Given the description of an element on the screen output the (x, y) to click on. 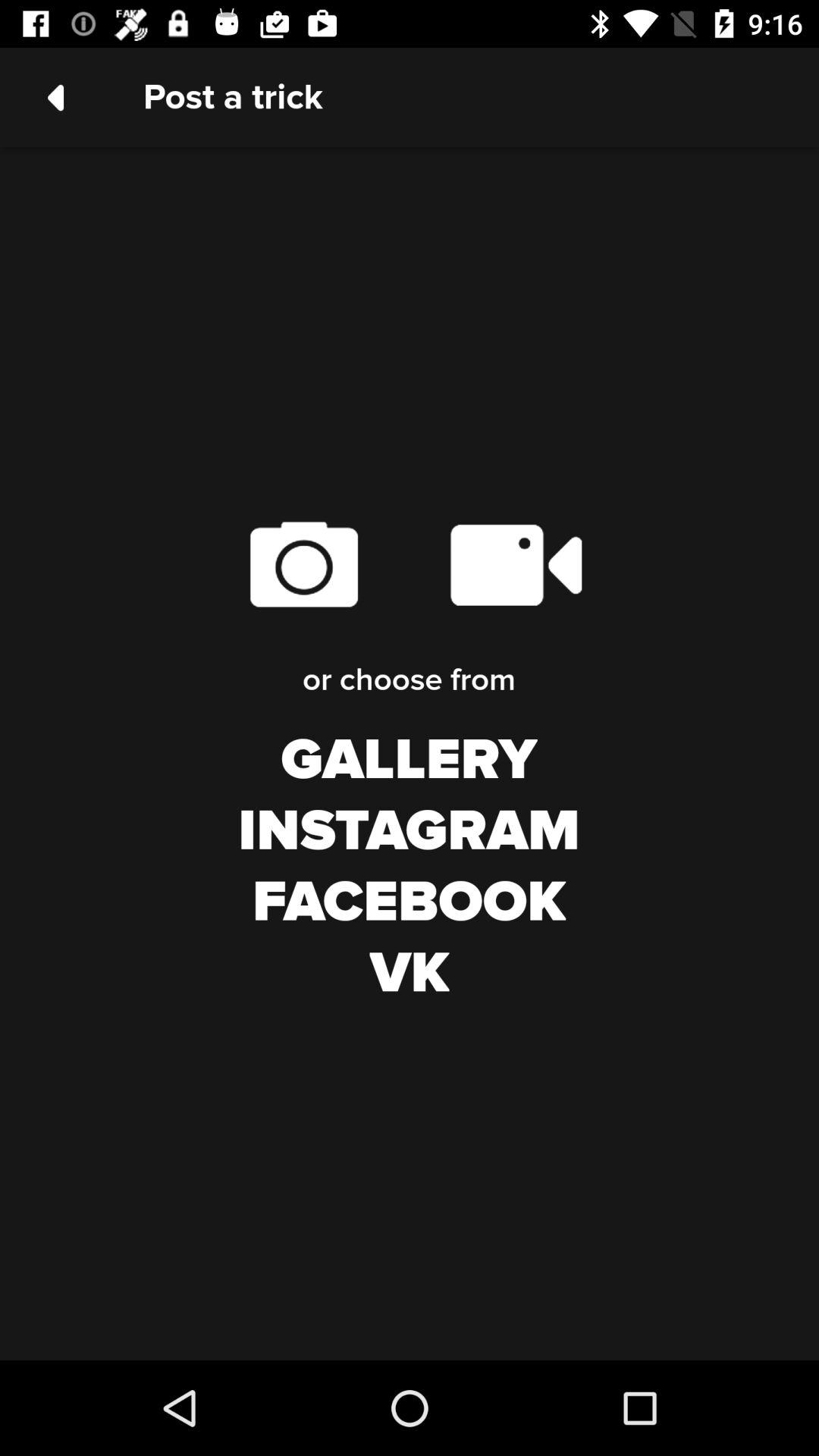
swipe until gallery (408, 760)
